Given the description of an element on the screen output the (x, y) to click on. 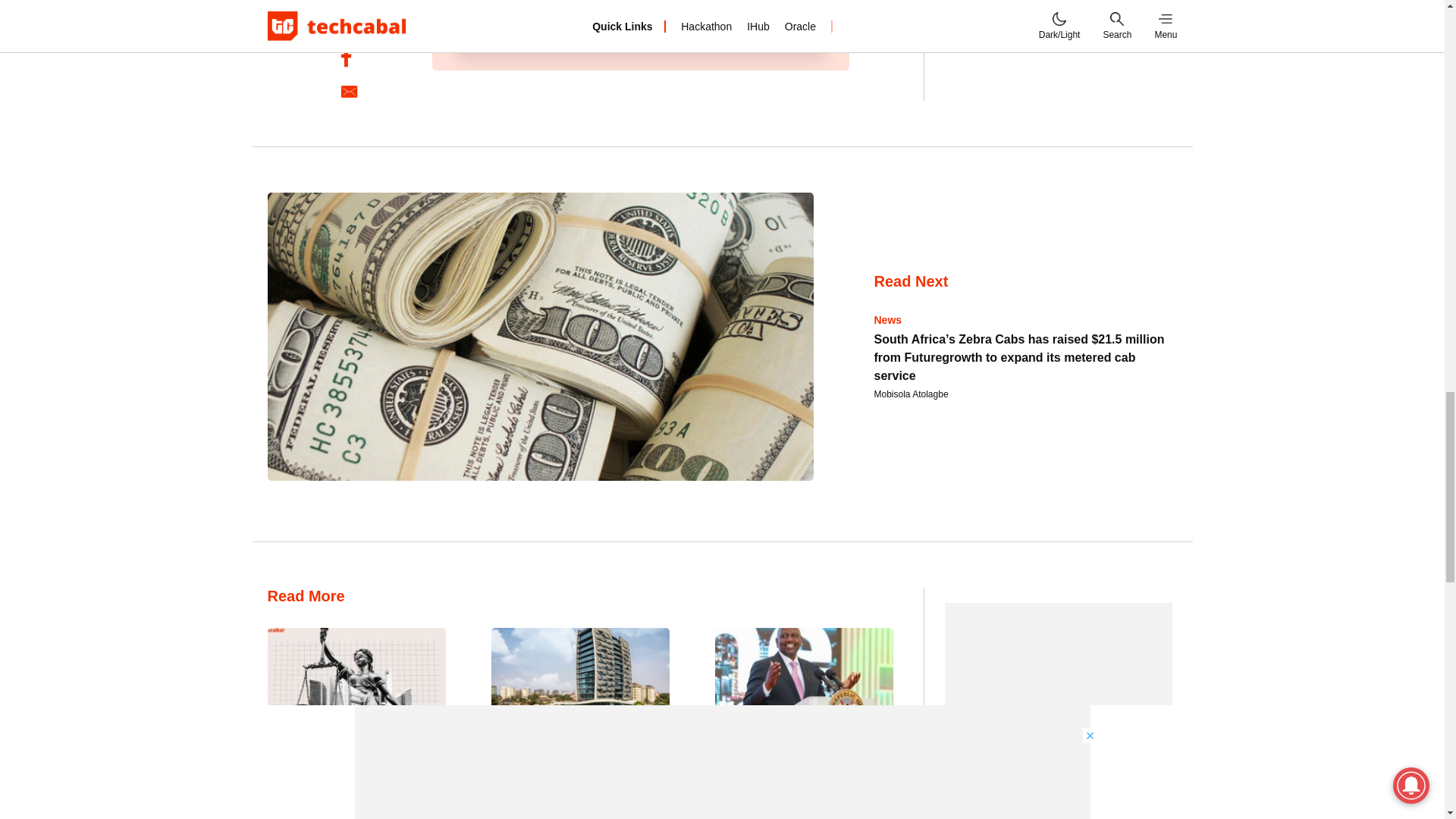
Posts by Mobisola Atolagbe (910, 394)
Posts by Adonijah Ndege (746, 818)
Posts by Frank Eleanya (521, 818)
Posts by Editor (277, 818)
3rd party ad content (1058, 9)
